Given the description of an element on the screen output the (x, y) to click on. 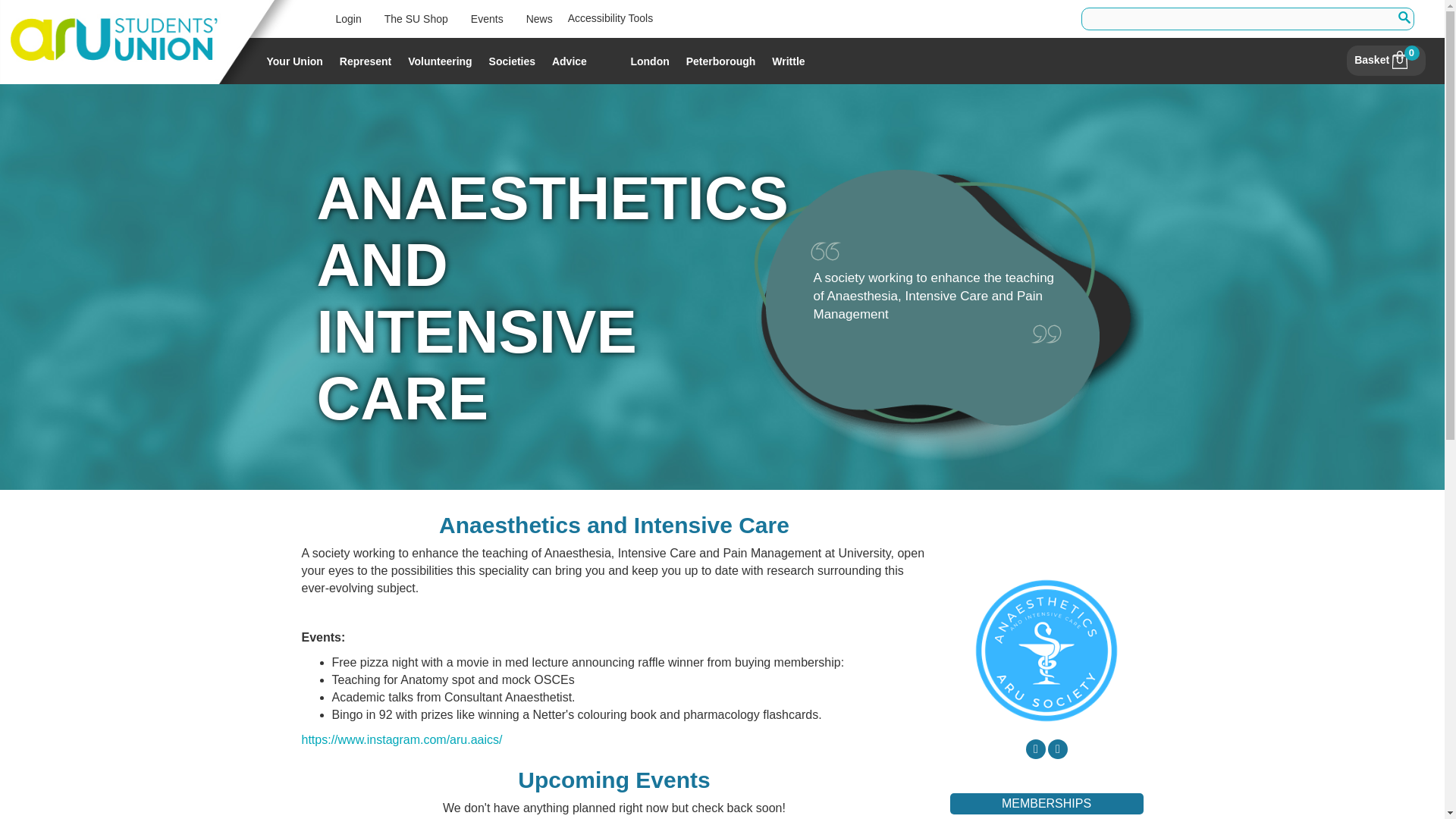
Represent (365, 61)
Societies (511, 61)
Advice (569, 61)
The SU Shop (416, 18)
Search (1402, 18)
Login (348, 18)
Your Union (294, 61)
Volunteering (440, 61)
Review Basket (1384, 60)
News (539, 18)
Search (1402, 18)
Events (487, 18)
Accessibility Tools (610, 18)
